Given the description of an element on the screen output the (x, y) to click on. 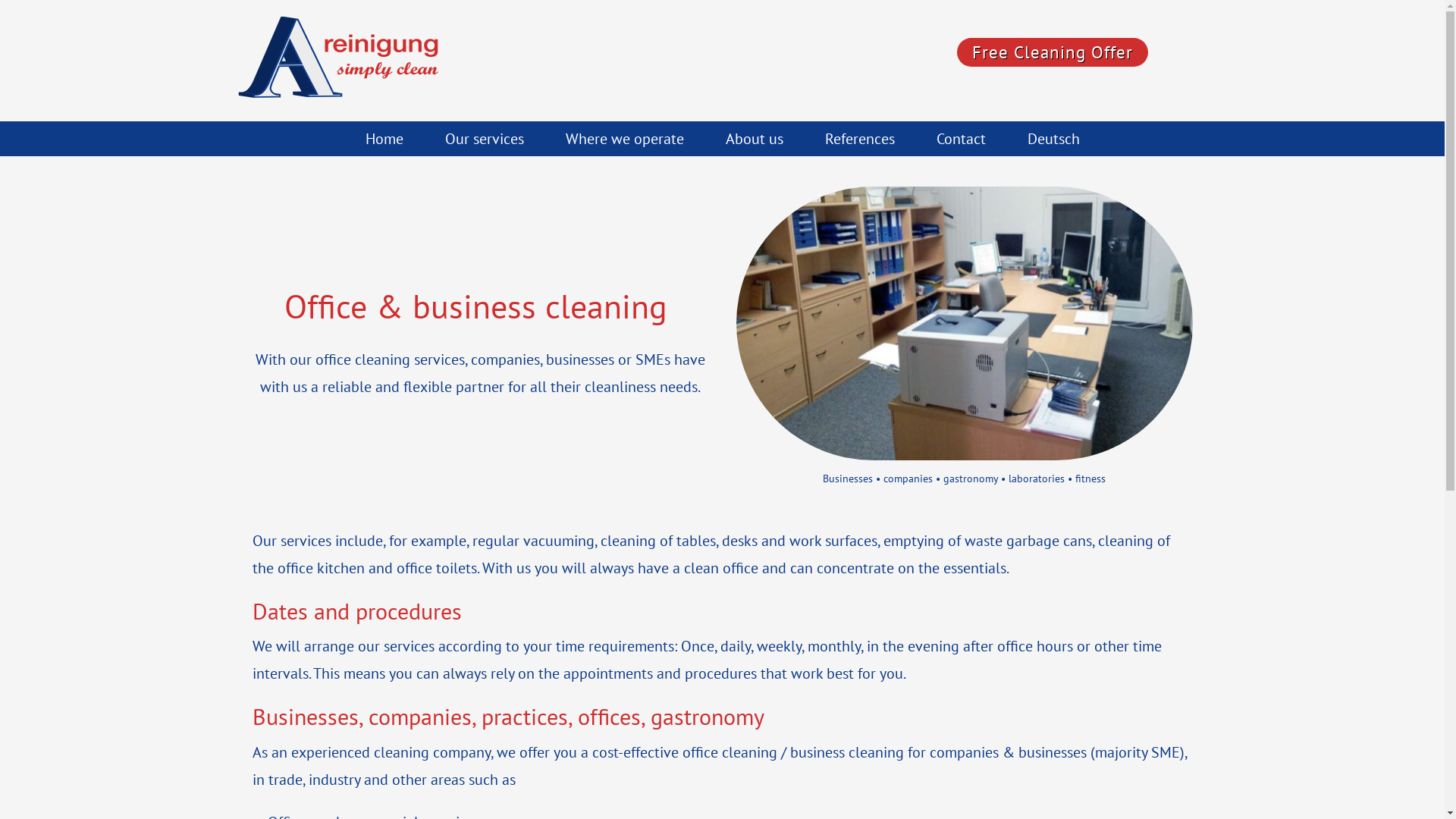
Where we operate Element type: text (624, 138)
Home Element type: text (383, 138)
Skip to primary navigation Element type: text (0, 0)
Deutsch Element type: text (1053, 138)
Contact Element type: text (960, 138)
About us Element type: text (754, 138)
Free Cleaning Offer Element type: text (1052, 51)
"A Reinigung" Element type: text (350, 60)
References Element type: text (859, 138)
Our services Element type: text (484, 138)
